Given the description of an element on the screen output the (x, y) to click on. 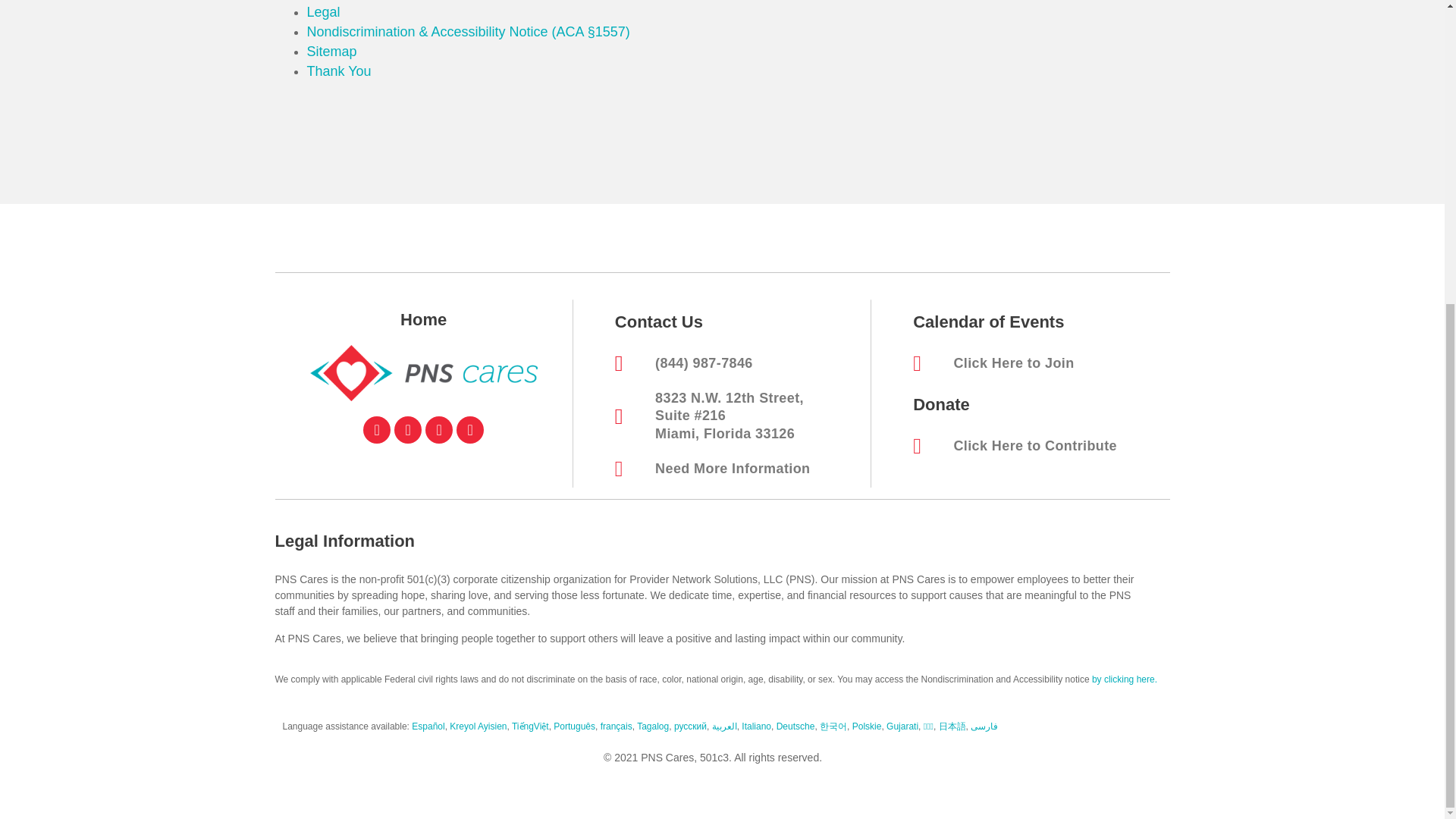
Legal (322, 11)
Thank You (338, 70)
Calendar of Events (988, 321)
Donate (940, 404)
by clicking here. (1124, 679)
Need More Information (738, 468)
Kreyol Ayisien (477, 726)
Click Here to Join (1036, 363)
Home (423, 320)
Click Here to Contribute (1036, 445)
Sitemap (330, 51)
